Given the description of an element on the screen output the (x, y) to click on. 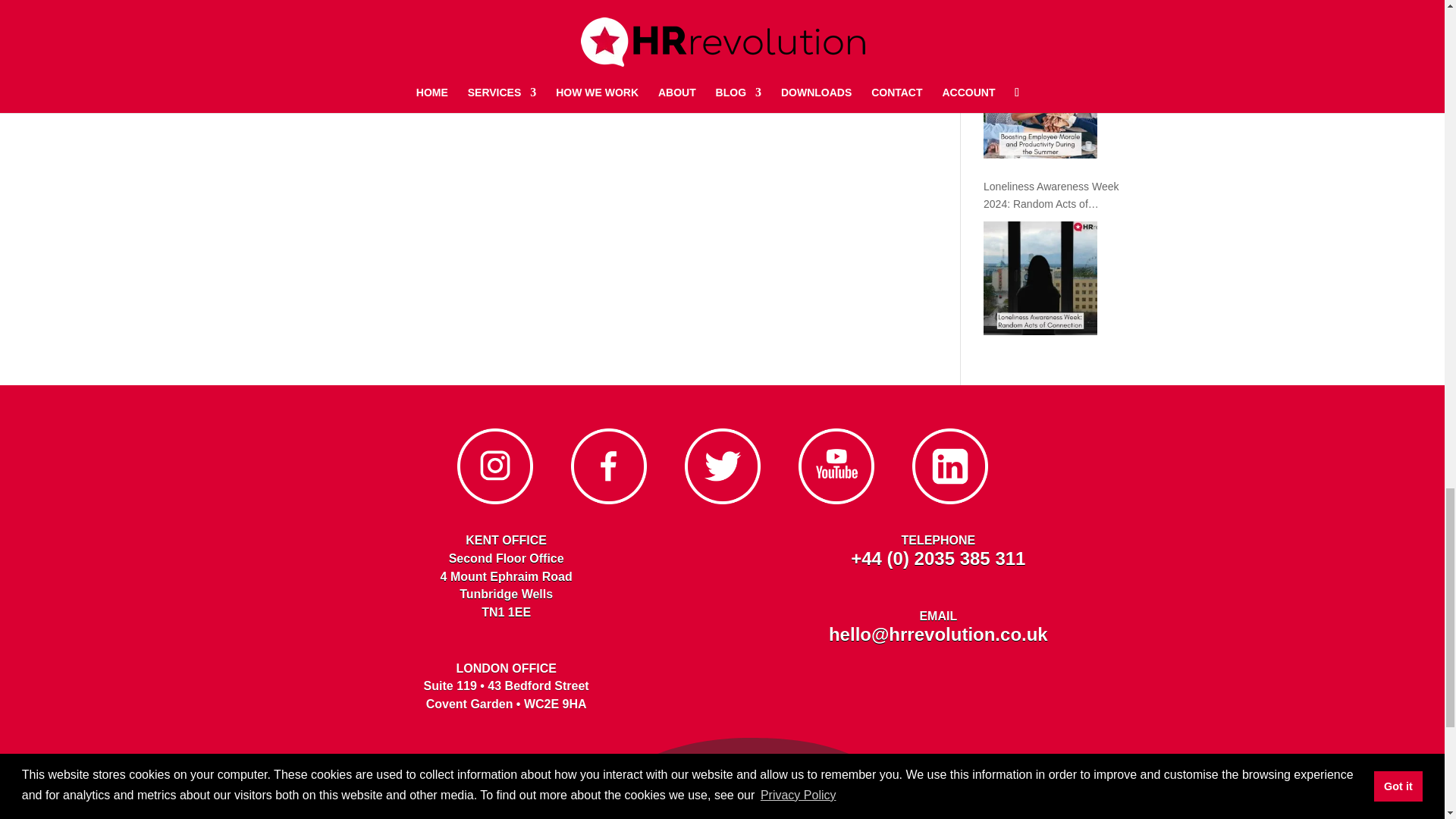
Boosting Employee Morale and Productivity During the Summer (1040, 101)
HR Revolution on Twitter (722, 500)
Loneliness Awareness Week 2024: Random Acts of Connection (1040, 277)
HR Revolution on Youtube (835, 500)
HR Revolution on Instagram (494, 500)
HR Revolution on Facebook (608, 500)
